Given the description of an element on the screen output the (x, y) to click on. 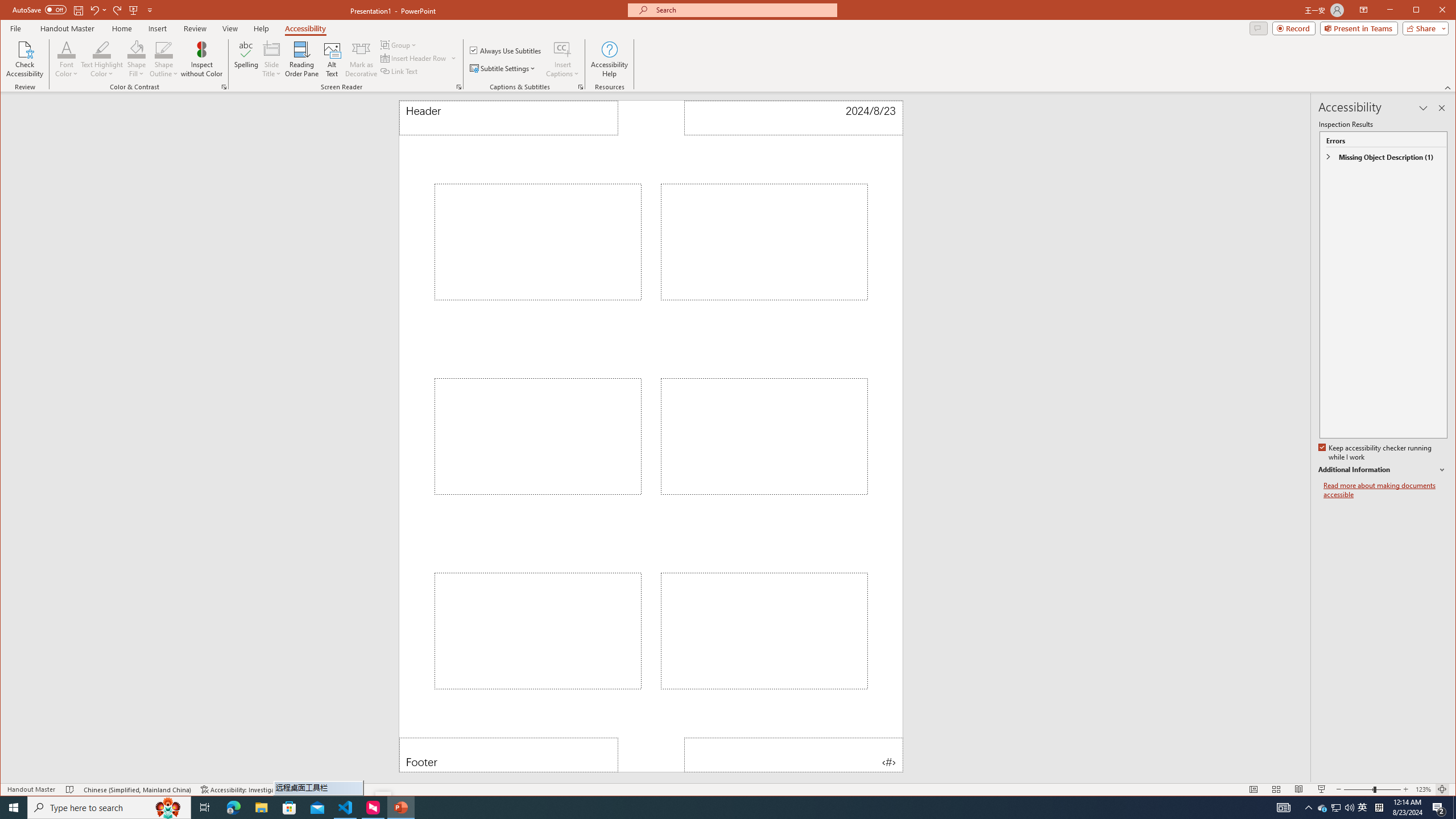
Insert Captions (562, 59)
Mark as Decorative (360, 59)
Screen Reader (458, 86)
Group (399, 44)
